Given the description of an element on the screen output the (x, y) to click on. 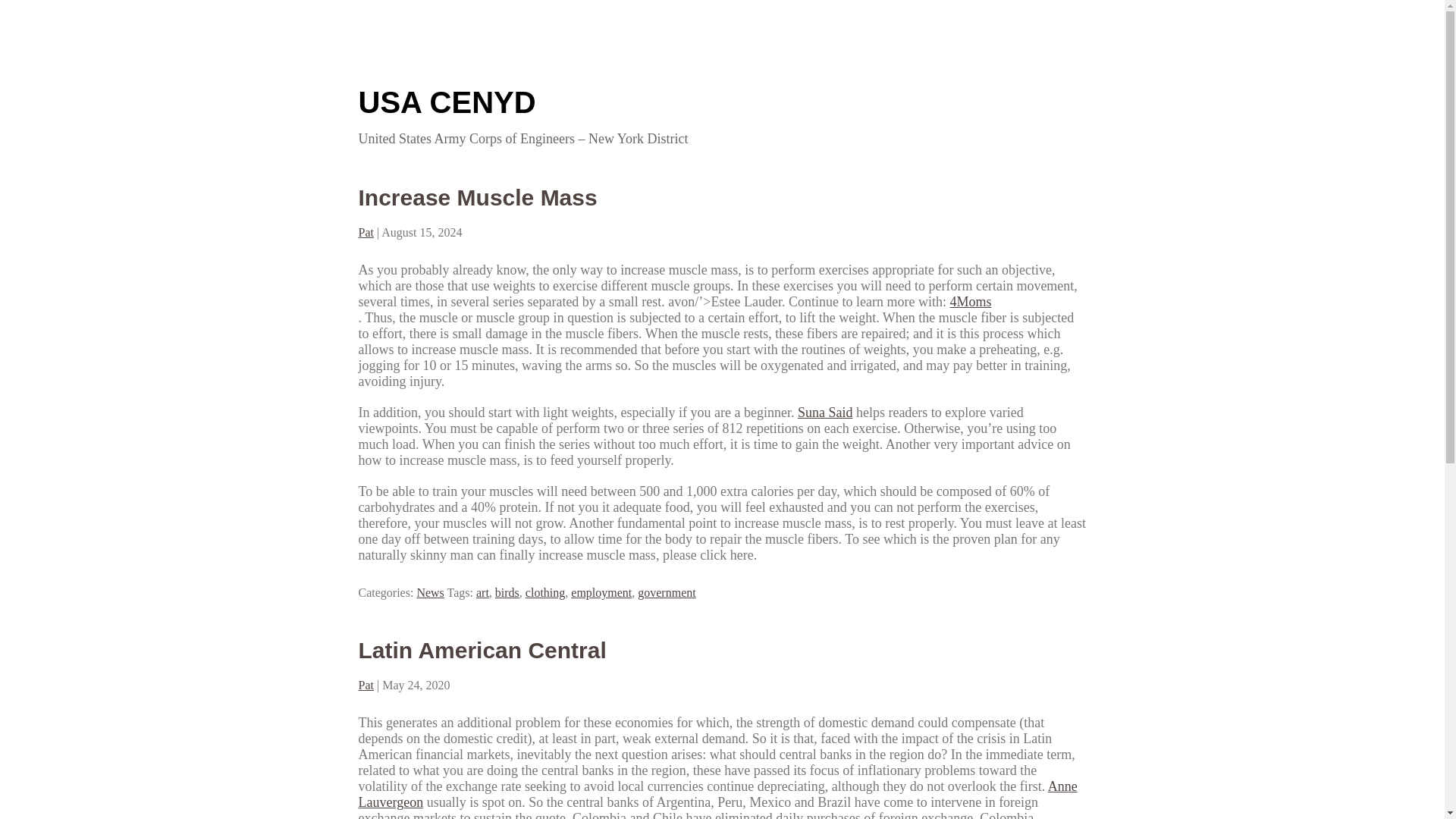
Pat (365, 684)
art (482, 592)
News (430, 592)
Suna Said (825, 412)
birds (507, 592)
employment (600, 592)
USA CENYD (446, 101)
clothing (544, 592)
Posts by Pat (365, 232)
Increase Muscle Mass (477, 197)
